Given the description of an element on the screen output the (x, y) to click on. 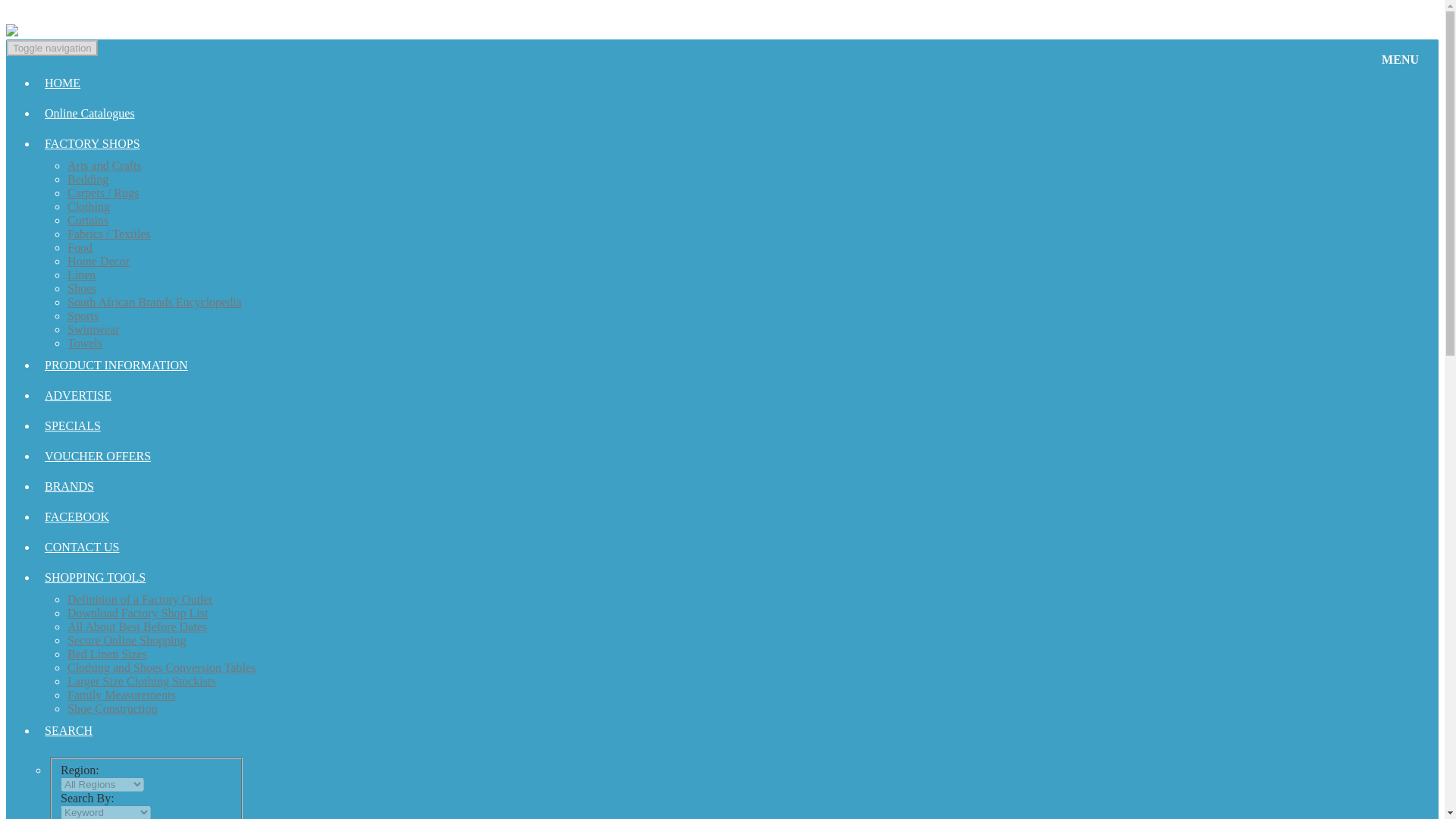
ADVERTISE (146, 395)
Larger Size Clothing Stockists (140, 680)
Shoe Construction (111, 707)
Download Factory Shop List (137, 612)
CONTACT US (146, 547)
Shoes (81, 287)
Towels (83, 342)
Curtains (86, 219)
All About Best Before Dates (136, 626)
Bedding (86, 178)
